Given the description of an element on the screen output the (x, y) to click on. 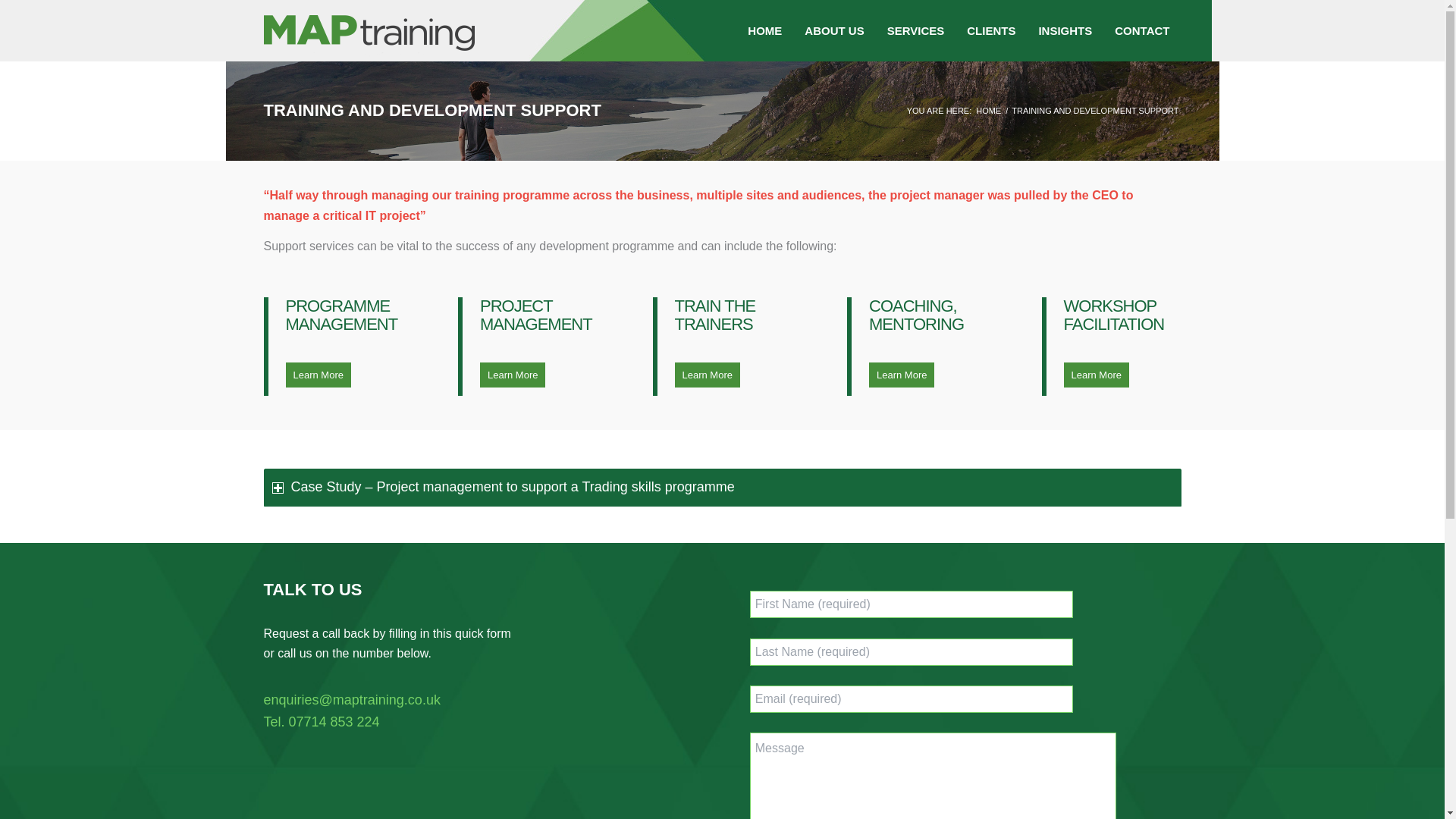
Map Training (988, 111)
Learn More (1095, 374)
Learn More (512, 374)
Learn More (317, 374)
Learn More (901, 374)
TRAINING AND DEVELOPMENT SUPPORT (432, 109)
ABOUT US (834, 30)
CONTACT (1141, 30)
Permanent Link: Training and Development Support (432, 109)
INSIGHTS (1064, 30)
